Given the description of an element on the screen output the (x, y) to click on. 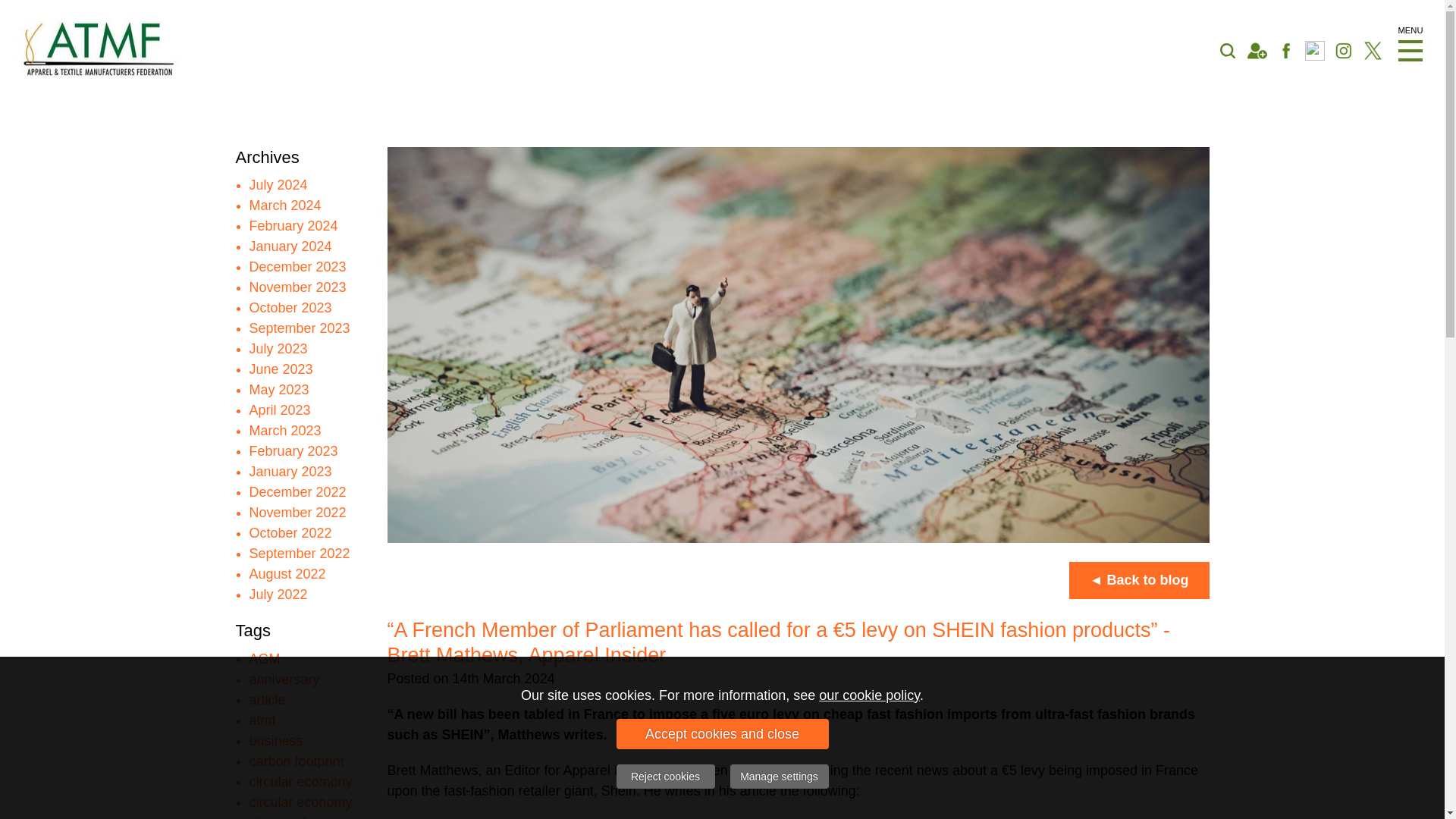
Back to blog (1138, 579)
